Given the description of an element on the screen output the (x, y) to click on. 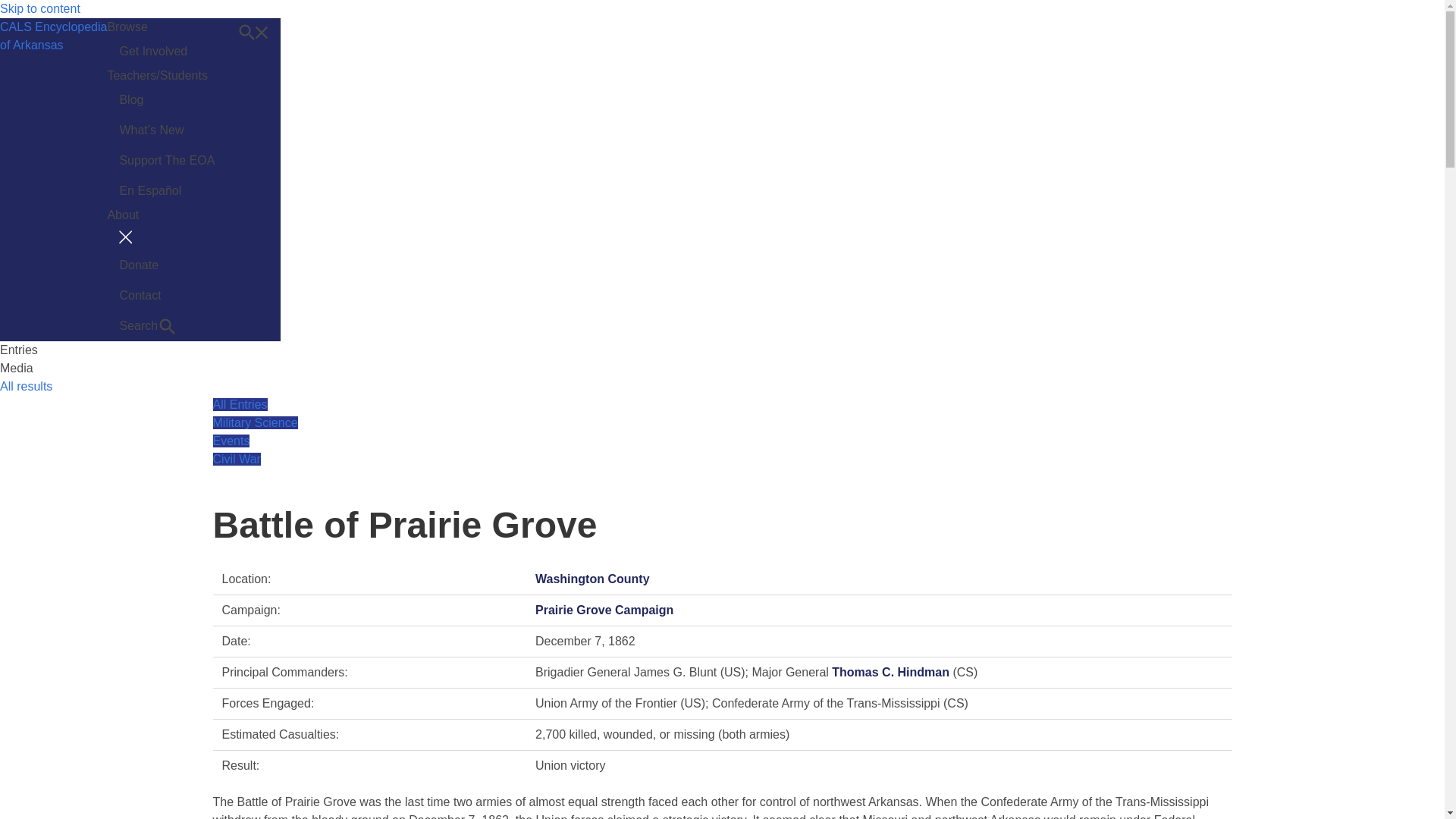
Blog (166, 100)
Support The EOA (166, 160)
Skip to content (40, 8)
Get Involved (166, 51)
